Given the description of an element on the screen output the (x, y) to click on. 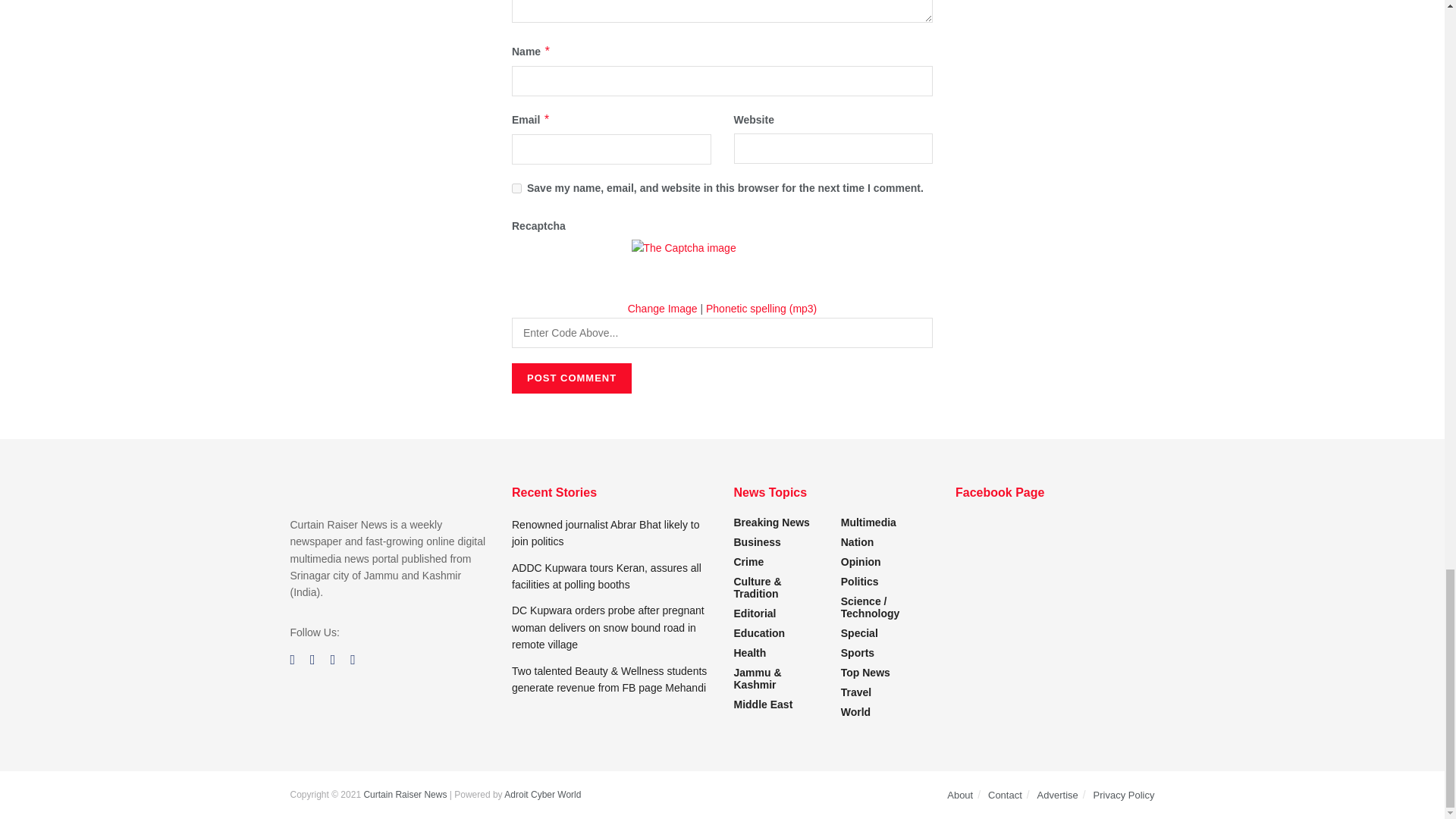
Curtain Raiser News (404, 794)
yes (516, 188)
Post Comment (571, 378)
Adroit Cyber World (541, 794)
